Given the description of an element on the screen output the (x, y) to click on. 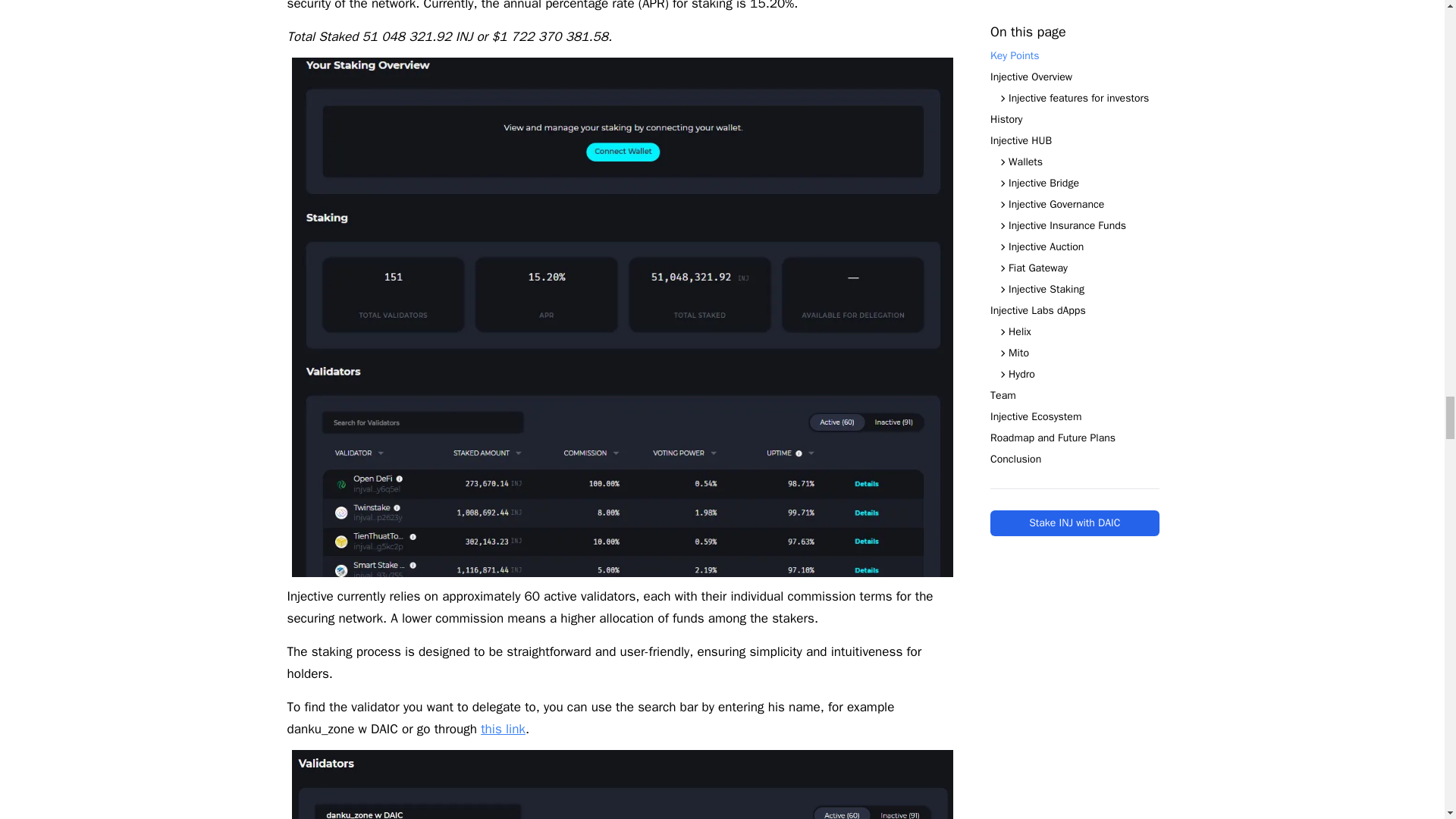
this link (502, 729)
